Given the description of an element on the screen output the (x, y) to click on. 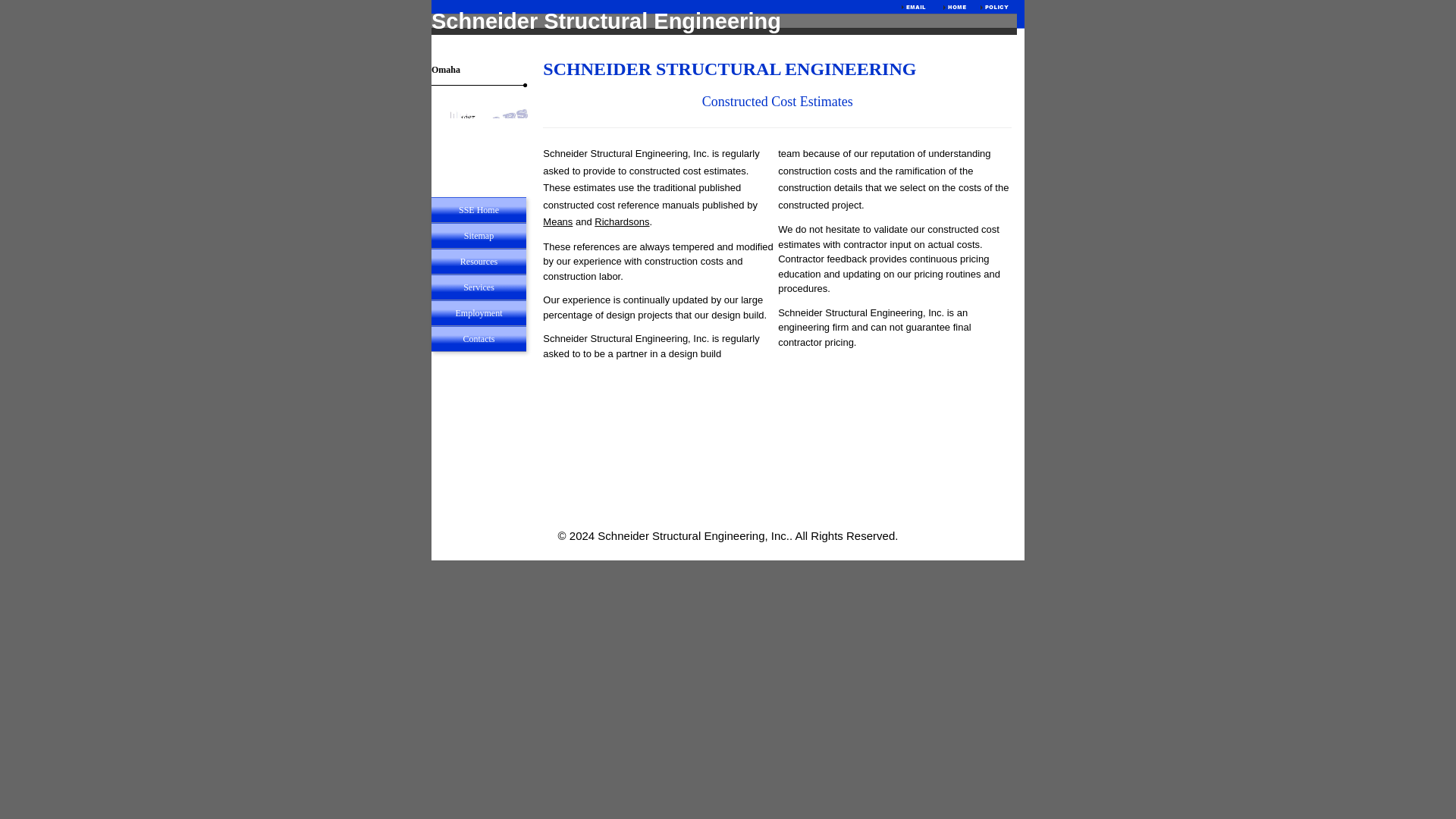
Means (557, 221)
Employment (477, 313)
SSE Home (477, 210)
Richardsons (621, 221)
Sitemap (477, 235)
Schneider Structural Engineering (605, 21)
Contacts (477, 338)
